Given the description of an element on the screen output the (x, y) to click on. 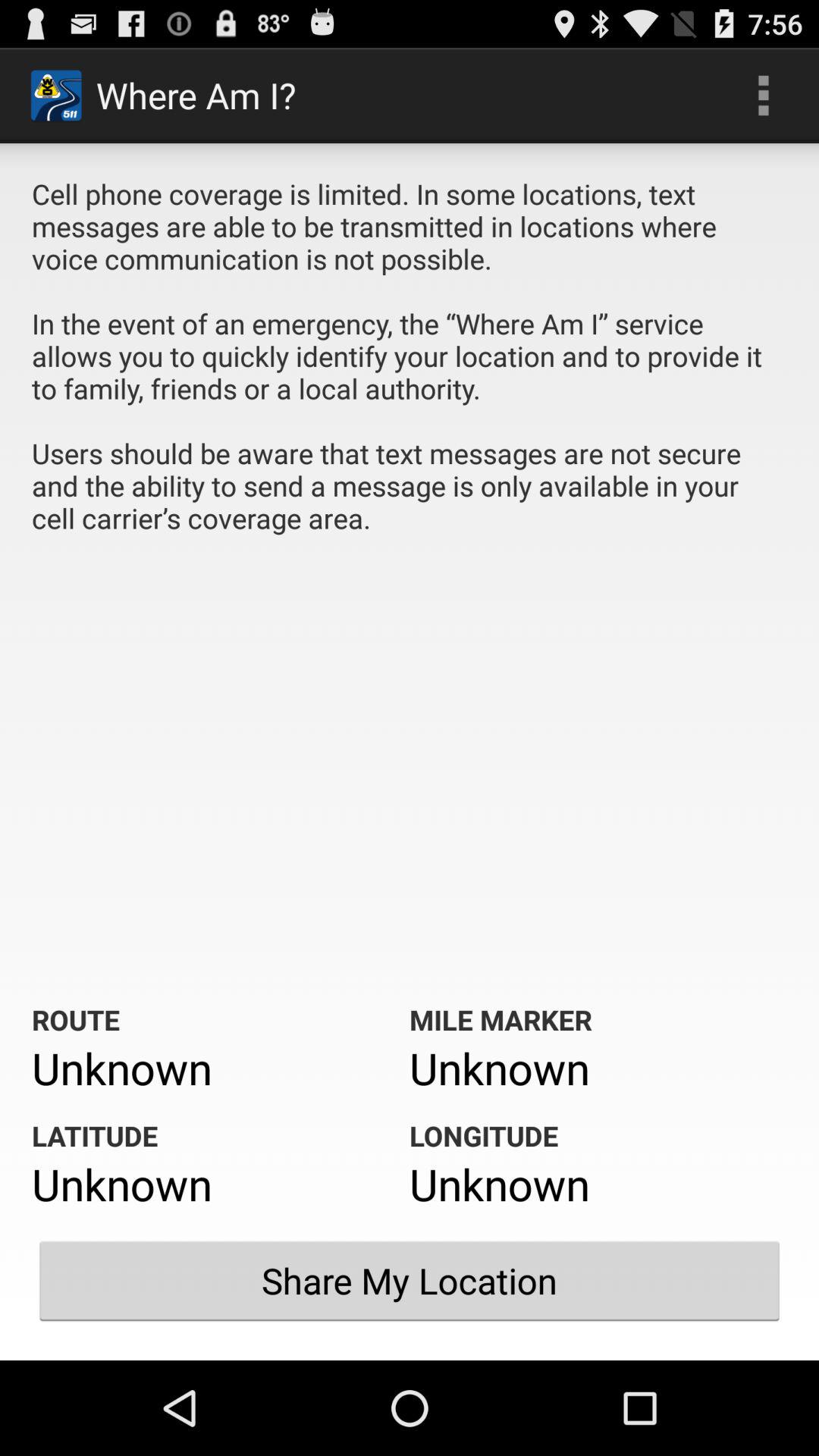
press the item below unknown item (409, 1280)
